Given the description of an element on the screen output the (x, y) to click on. 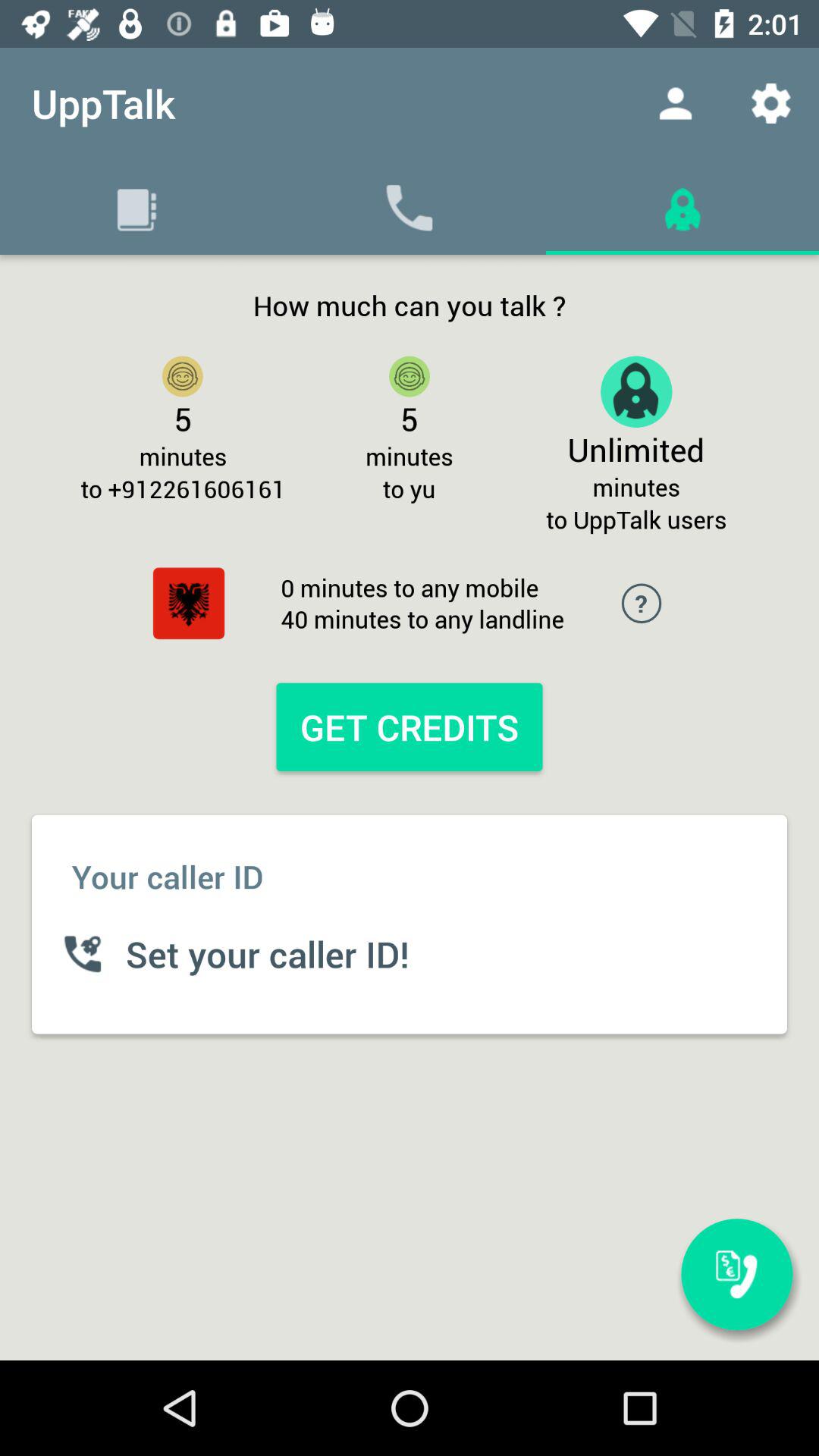
choose icon above the your caller id (188, 603)
